Given the description of an element on the screen output the (x, y) to click on. 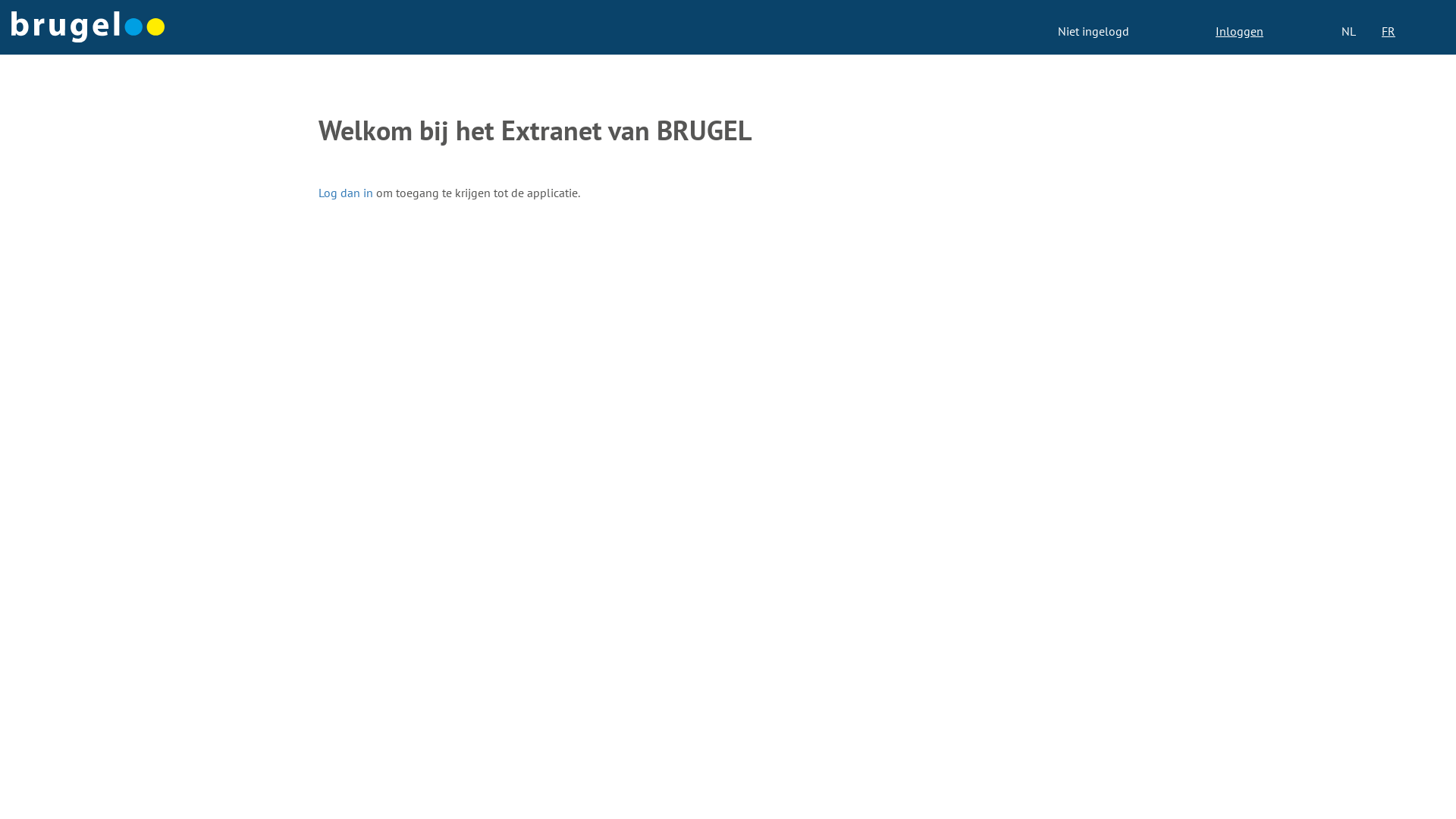
Log dan in Element type: text (345, 192)
Inloggen Element type: text (1239, 30)
FR Element type: text (1388, 31)
Niet ingelogd Element type: text (1093, 30)
NL Element type: text (1348, 31)
